Given the description of an element on the screen output the (x, y) to click on. 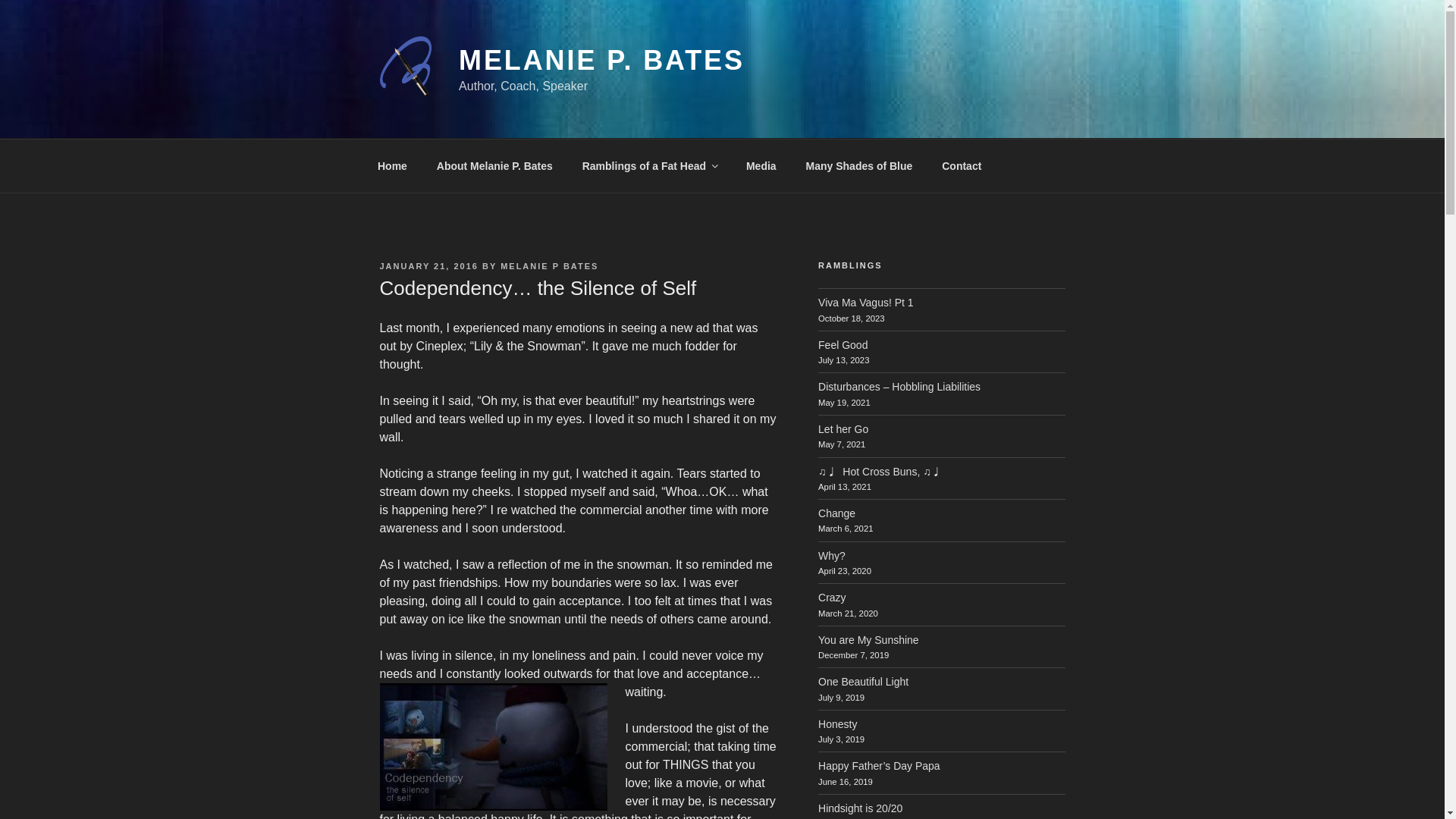
Feel Good (842, 345)
You are My Sunshine (868, 639)
Viva Ma Vagus! Pt 1 (866, 302)
MELANIE P. BATES (601, 60)
Media (760, 165)
About Melanie P. Bates (494, 165)
Honesty (837, 724)
Home (392, 165)
Crazy (831, 597)
Let her Go (842, 428)
JANUARY 21, 2016 (427, 266)
Why? (831, 555)
Many Shades of Blue (859, 165)
MELANIE P BATES (549, 266)
One Beautiful Light (863, 681)
